Given the description of an element on the screen output the (x, y) to click on. 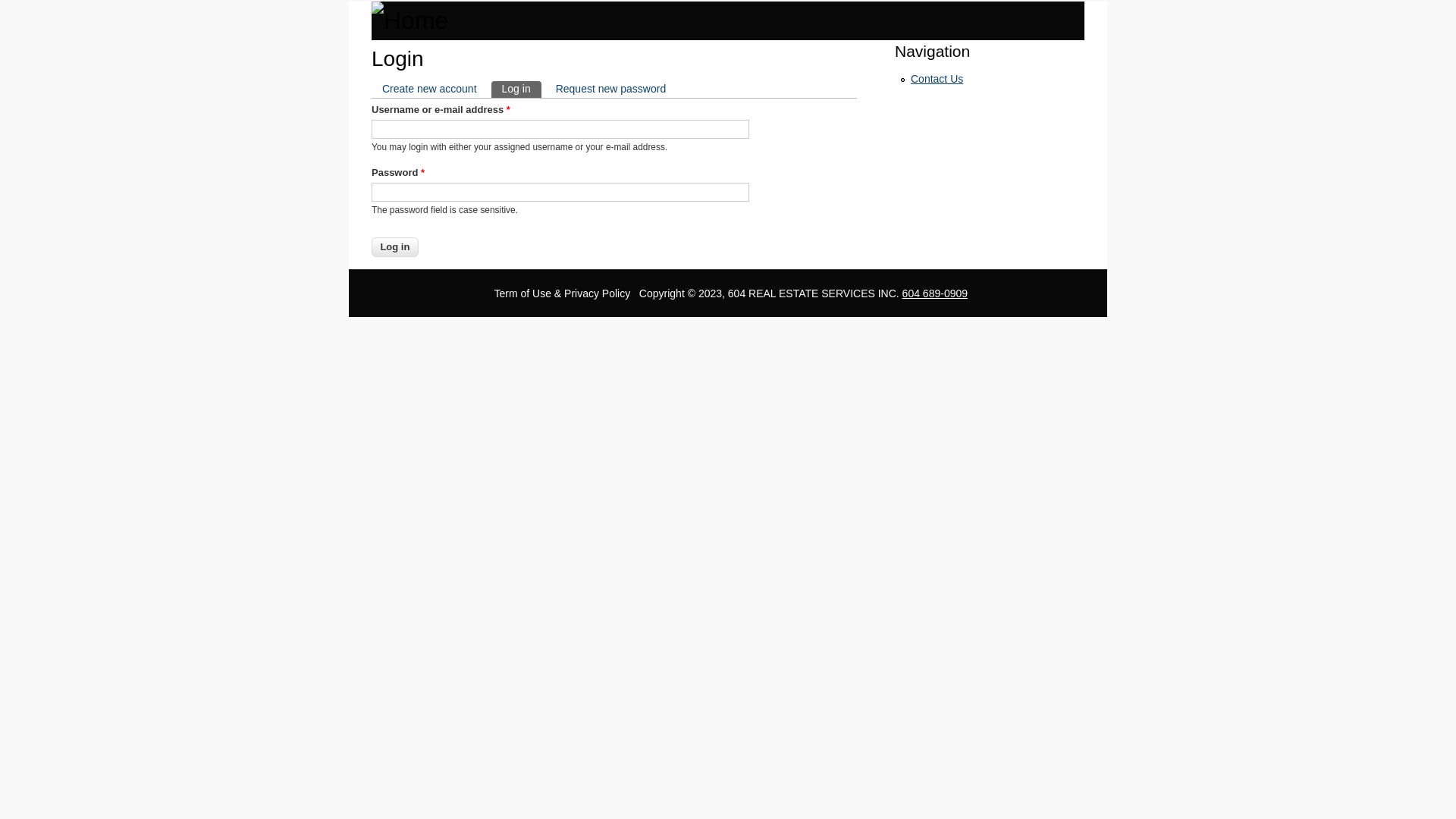
604 REAL ESTATE SERVICES INC. Element type: text (813, 293)
604 689-0909 Element type: text (934, 293)
Create new account Element type: text (429, 89)
Log in Element type: text (394, 247)
Contact Us Element type: text (936, 78)
Log in
(active tab) Element type: text (516, 89)
Request new password Element type: text (611, 89)
Skip to main content Element type: text (48, 1)
  Term of Use & Privacy Policy   Element type: text (562, 293)
Home Element type: hover (727, 20)
